Given the description of an element on the screen output the (x, y) to click on. 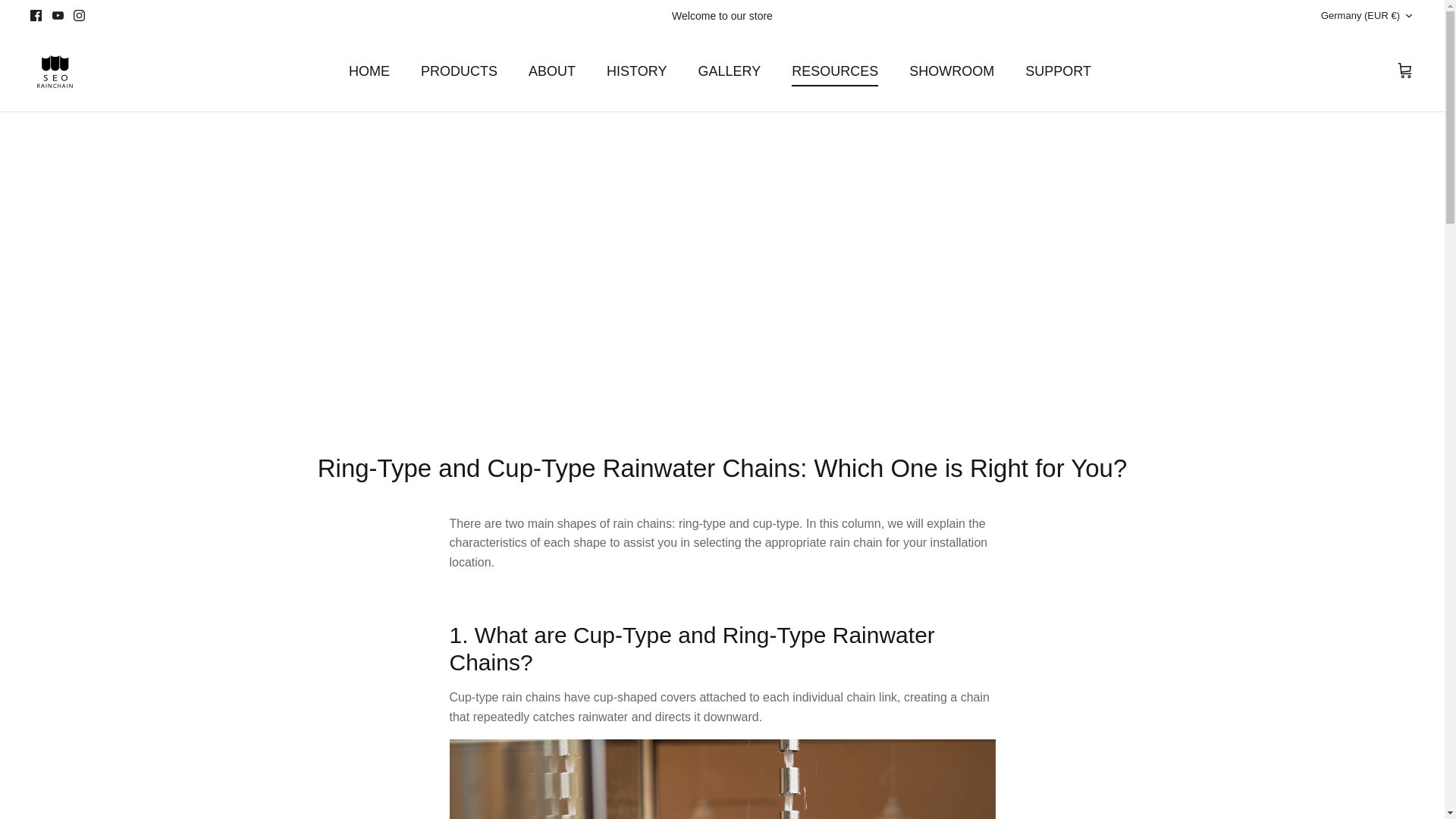
PRODUCTS (459, 71)
Youtube (58, 15)
SEO RAIN CHAIN (55, 71)
Down (1408, 15)
GALLERY (729, 71)
Facebook (36, 15)
Instagram (79, 15)
HOME (368, 71)
HISTORY (635, 71)
Facebook (36, 15)
